Given the description of an element on the screen output the (x, y) to click on. 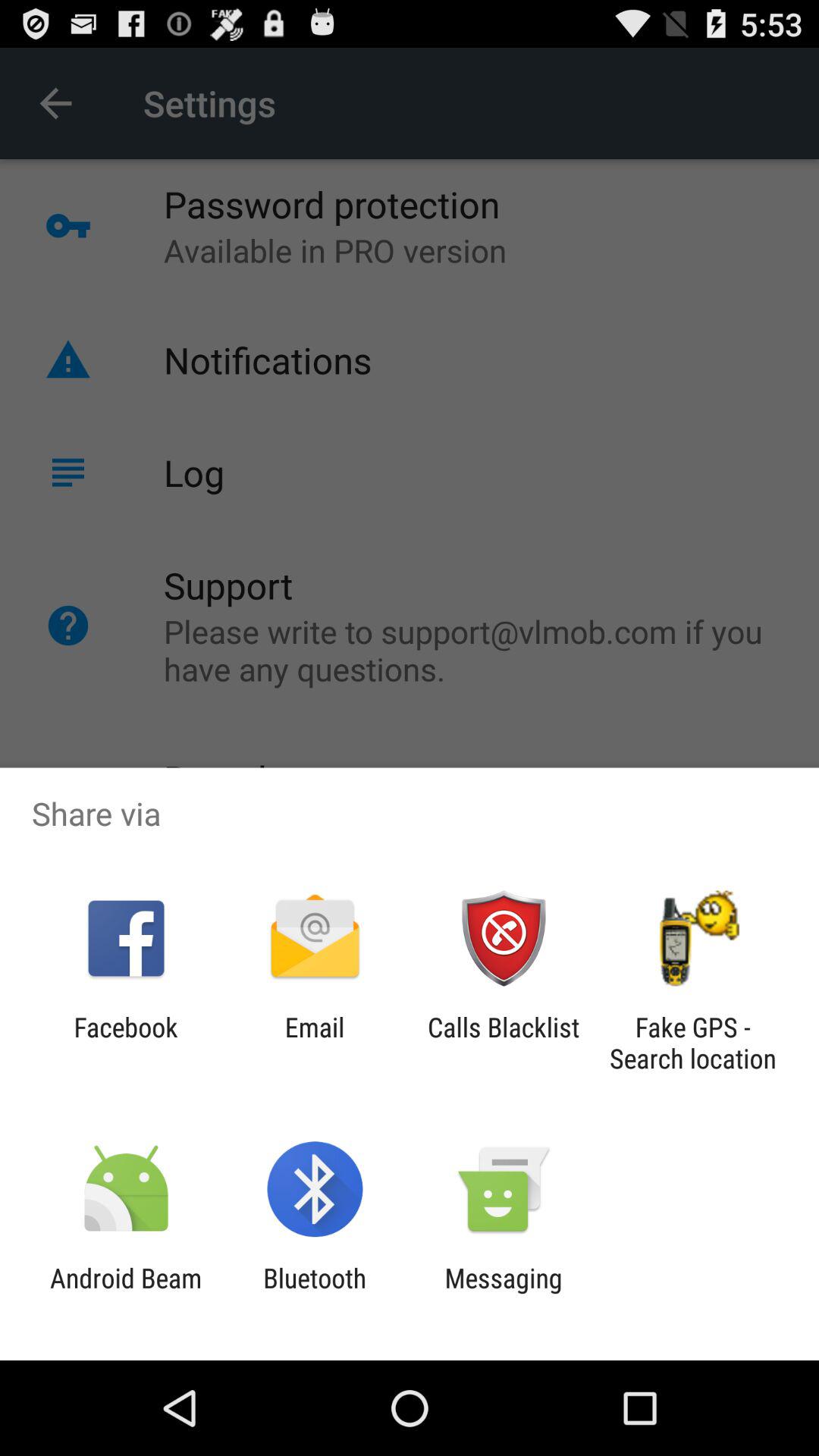
scroll to calls blacklist icon (503, 1042)
